Given the description of an element on the screen output the (x, y) to click on. 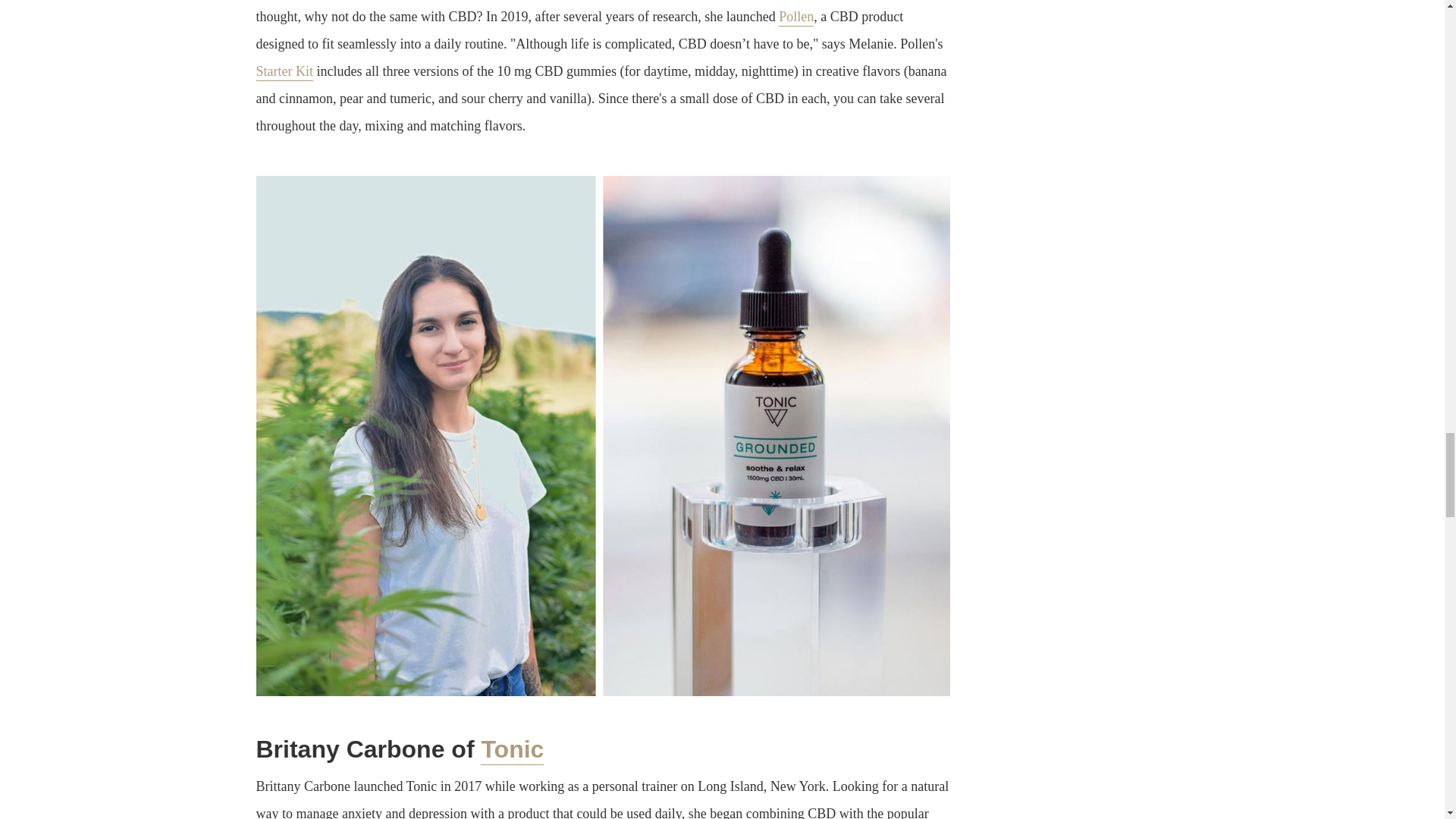
Starter Kit (284, 72)
Pollen (795, 17)
Tonic (511, 749)
